Given the description of an element on the screen output the (x, y) to click on. 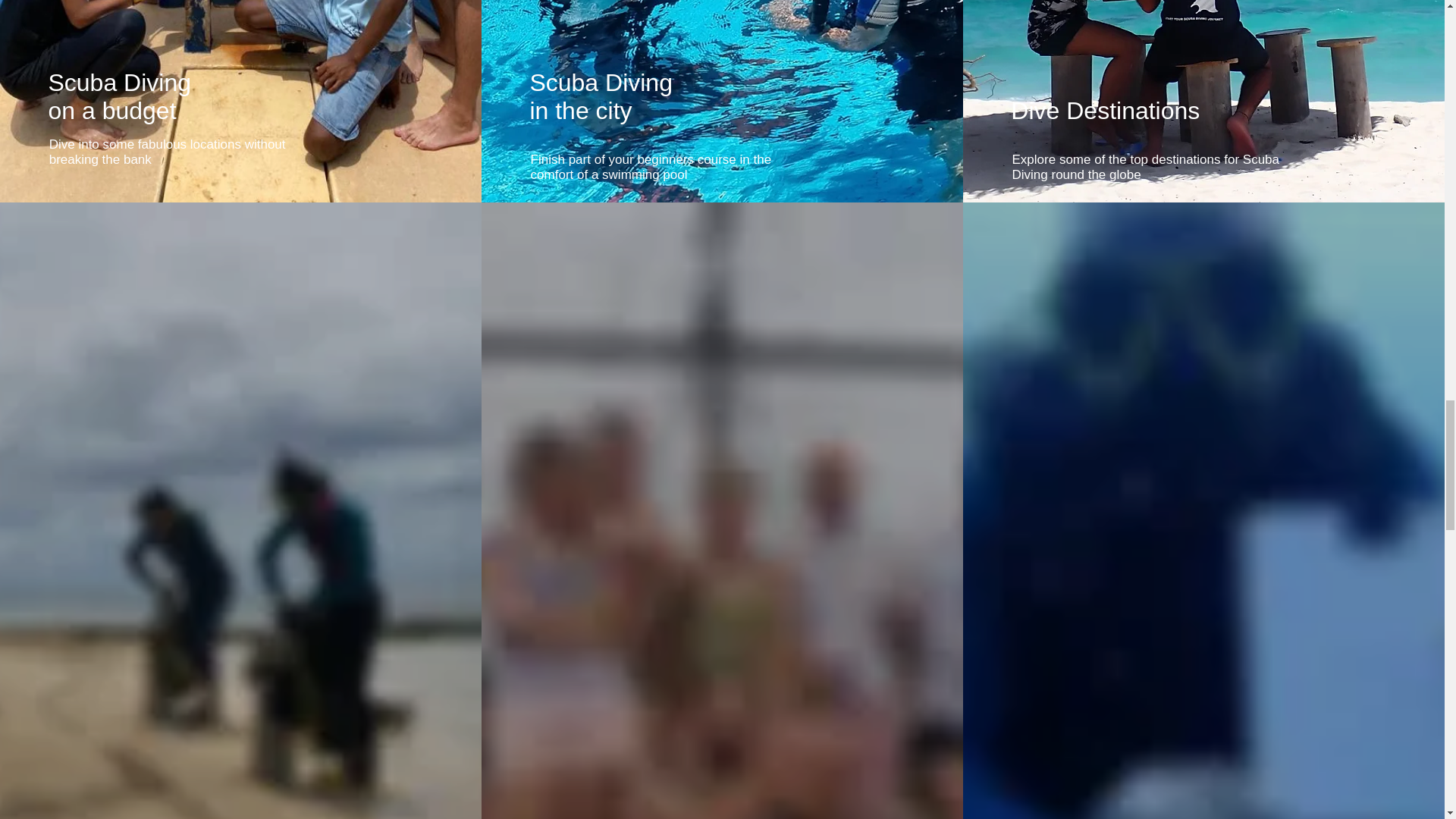
Scuba Diving (600, 82)
in the city (580, 110)
